Given the description of an element on the screen output the (x, y) to click on. 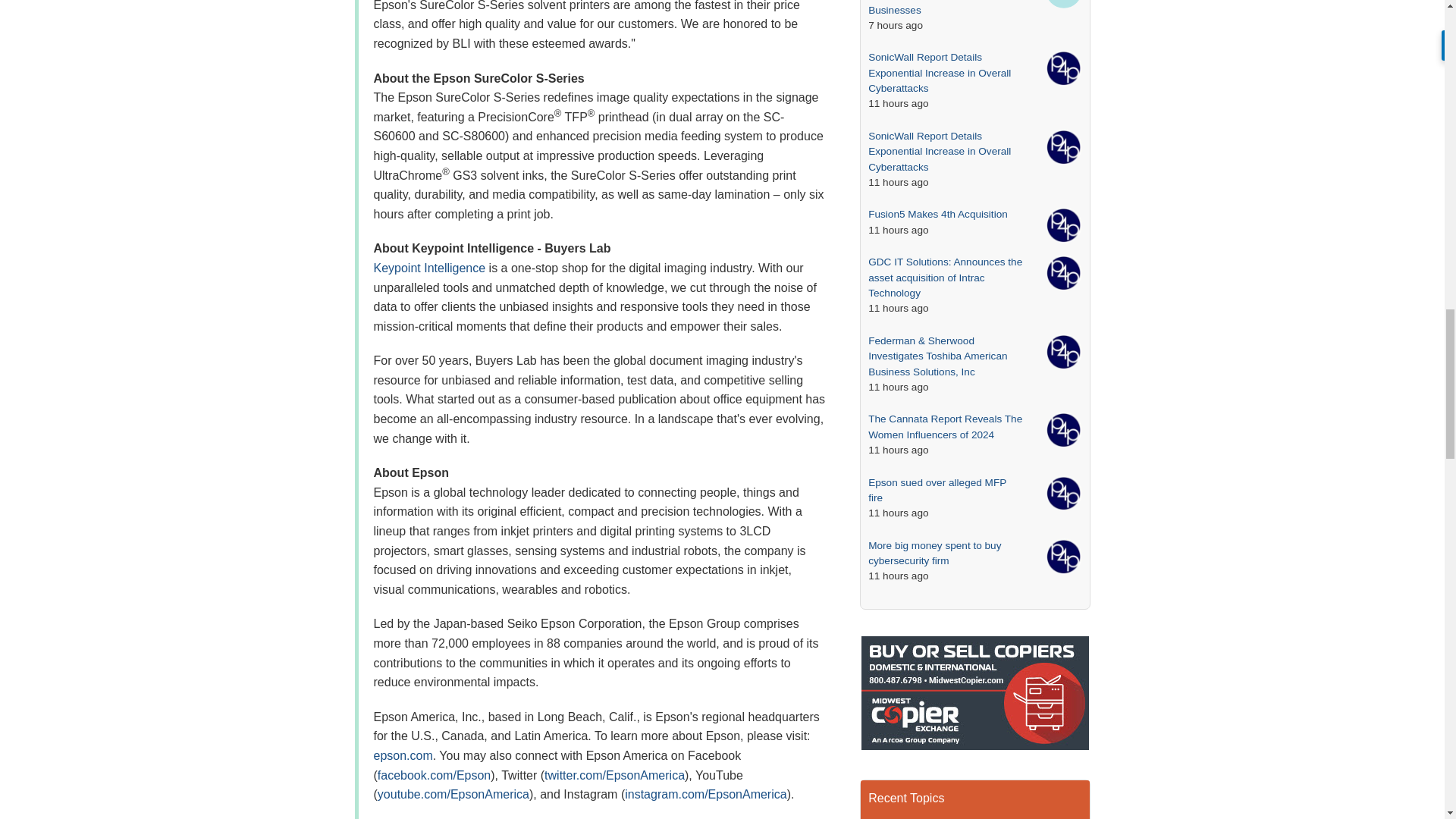
John martech (1063, 4)
JM (1063, 4)
